Given the description of an element on the screen output the (x, y) to click on. 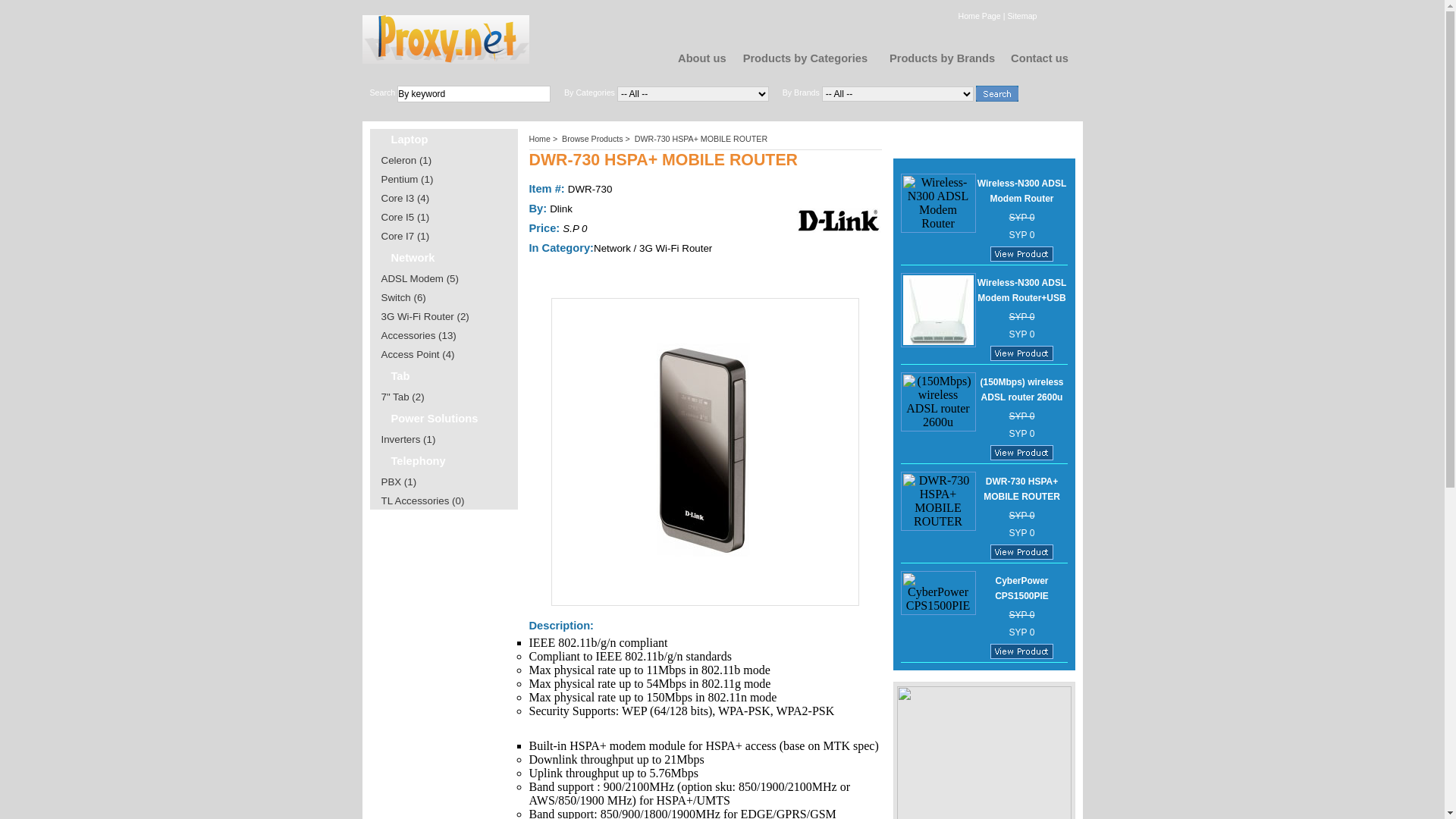
Laptop Element type: text (409, 139)
Telephony Element type: text (418, 461)
Wireless-N300 ADSL Modem Router Element type: hover (937, 202)
(150Mbps) wireless ADSL router 2600u Element type: text (1021, 389)
Click to view details Element type: hover (1021, 452)
Accessories (13) Element type: text (417, 335)
Click to view details Element type: hover (1021, 352)
Power Solutions Element type: text (434, 418)
Sitemap Element type: text (1021, 14)
CyberPower CPS1500PIE Element type: text (1021, 588)
Inverters (1) Element type: text (407, 439)
Proxy.net Element type: hover (445, 39)
Home Page Element type: text (978, 14)
Home Element type: text (539, 138)
Core I7 (1) Element type: text (404, 235)
About us Element type: text (701, 58)
Click to view details Element type: hover (1021, 551)
Wireless-N300 ADSL Modem Router+USB Element type: hover (937, 310)
7" Tab (2) Element type: text (401, 396)
Switch (6) Element type: text (402, 297)
(150Mbps) wireless ADSL router 2600u Element type: hover (937, 401)
CyberPower CPS1500PIE Element type: hover (937, 593)
Core I3 (4) Element type: text (404, 197)
DWR-730 HSPA+ MOBILE ROUTER Element type: hover (937, 500)
Access Point (4) Element type: text (417, 354)
Pentium (1) Element type: text (406, 179)
3G Wi-Fi Router (2) Element type: text (424, 316)
DWR-730 HSPA+ MOBILE ROUTER Element type: text (1021, 489)
Network / DWR-730 HSPA+ MOBILE ROUTER Element type: hover (705, 451)
Celeron (1) Element type: text (405, 160)
Dlink logo Element type: hover (838, 220)
Tab Element type: text (400, 376)
TL Accessories (0) Element type: text (422, 500)
Browse Products Element type: text (592, 138)
Products by Brands Element type: text (941, 58)
Products by Categories Element type: text (805, 58)
ADSL Modem (5) Element type: text (419, 278)
By keyword Element type: text (473, 93)
Click to view details Element type: hover (1021, 253)
Click to view details Element type: hover (1021, 650)
Contact us Element type: text (1039, 58)
Wireless-N300 ADSL Modem Router+USB Element type: text (1021, 290)
Network Element type: text (413, 257)
Wireless-N300 ADSL Modem Router Element type: text (1021, 190)
Core I5 (1) Element type: text (404, 216)
PBX (1) Element type: text (398, 481)
